Given the description of an element on the screen output the (x, y) to click on. 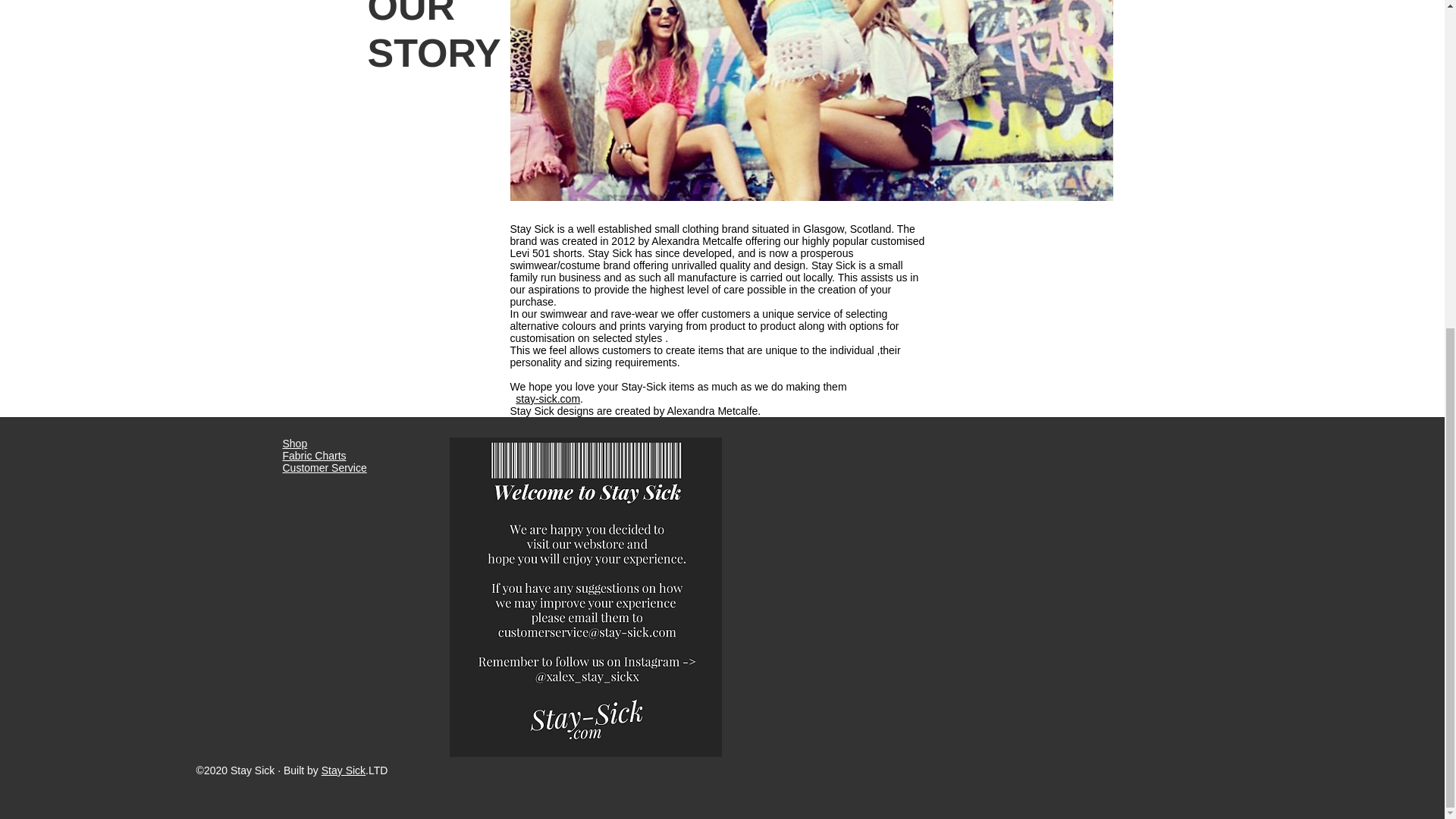
Customer Service (324, 467)
stay-sick.com (547, 398)
Stay Sick (343, 770)
Shop (294, 443)
Fabric Charts (314, 455)
